Given the description of an element on the screen output the (x, y) to click on. 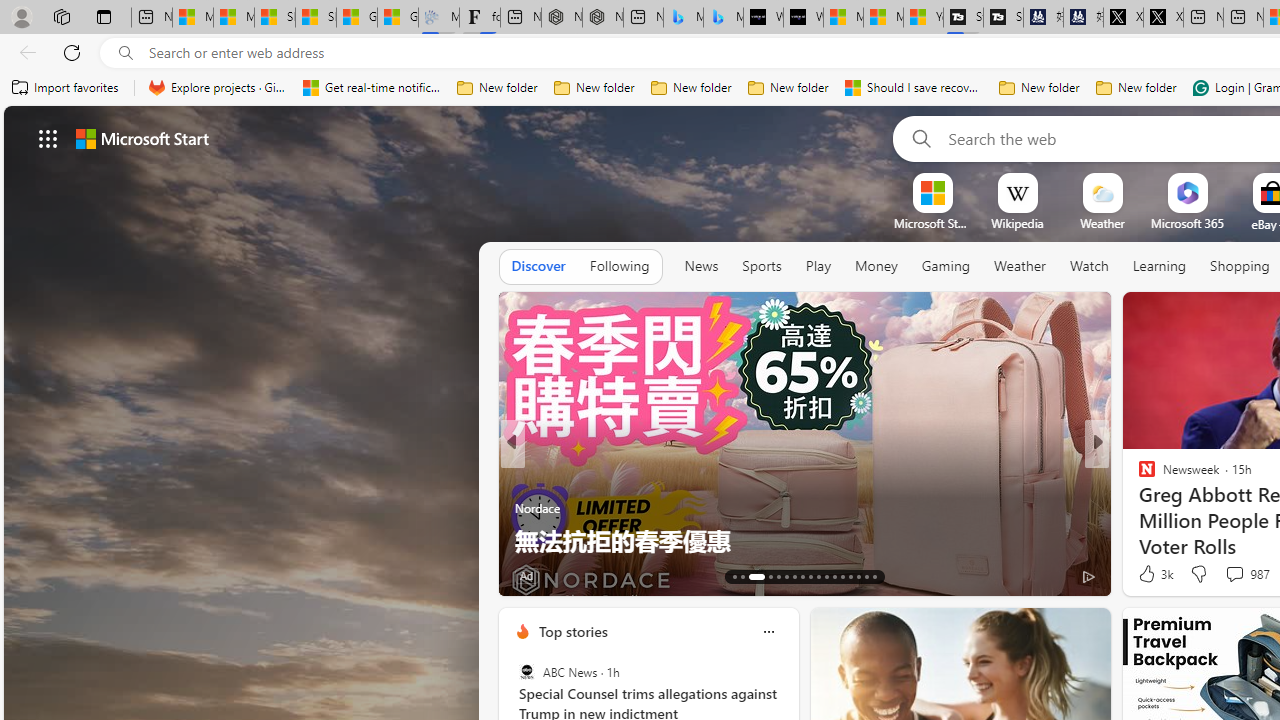
AutomationID: tab-27 (857, 576)
AutomationID: tab-21 (810, 576)
158 Like (1151, 574)
45 Like (1149, 574)
241 Like (1151, 574)
